Given the description of an element on the screen output the (x, y) to click on. 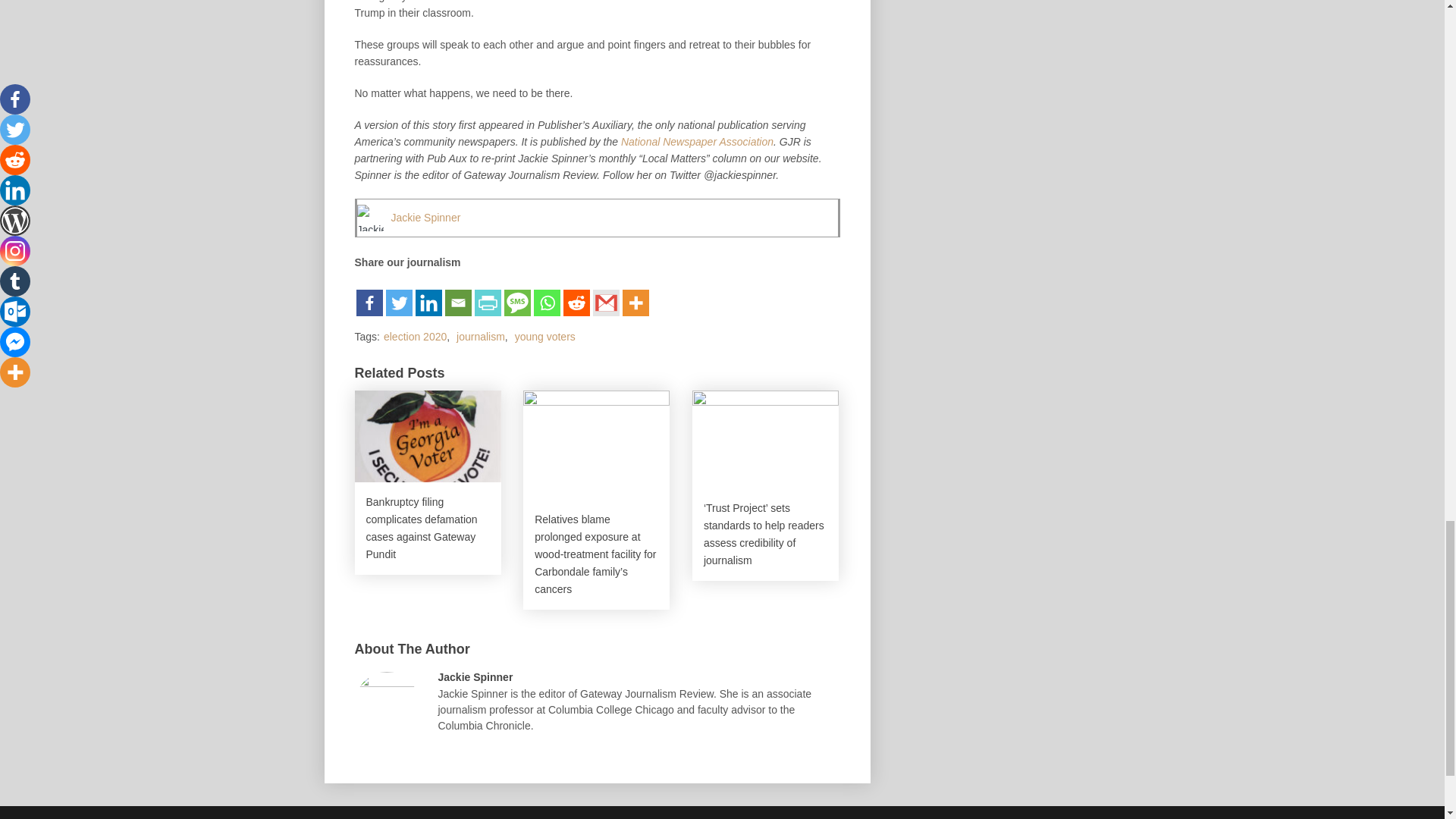
Jackie Spinner (426, 217)
Jackie Spinner (426, 217)
journalism (481, 336)
election 2020 (415, 336)
National Newspaper Association (697, 141)
